Given the description of an element on the screen output the (x, y) to click on. 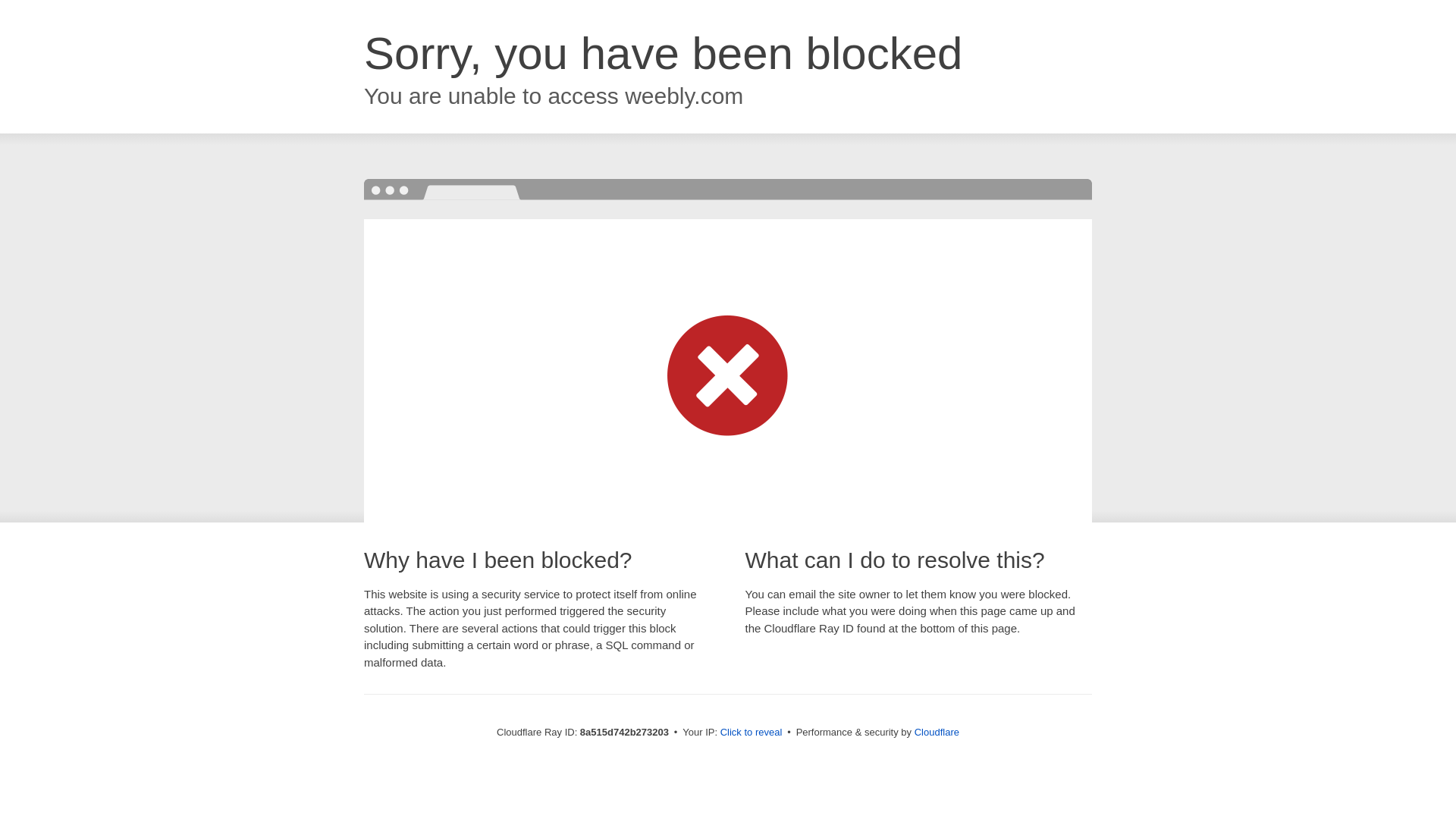
Cloudflare (936, 731)
Click to reveal (751, 732)
